Given the description of an element on the screen output the (x, y) to click on. 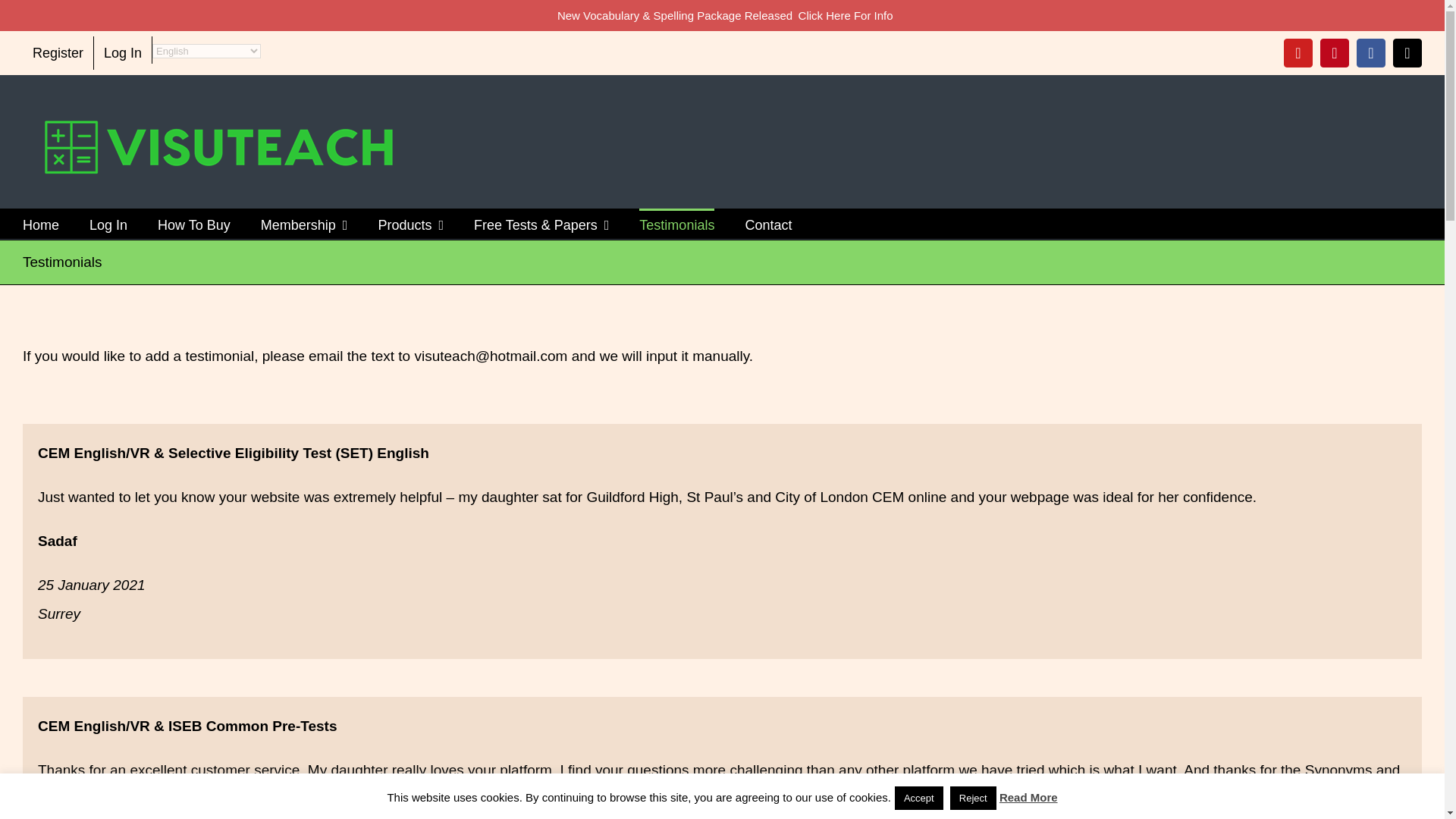
Testimonials (676, 223)
X (1407, 52)
Membership (303, 223)
Home (41, 223)
Facebook (1371, 52)
Contact (768, 223)
Log In (122, 52)
YouTube (1298, 52)
Register (58, 52)
Products (410, 223)
How To Buy (193, 223)
Log In (108, 223)
Pinterest (1334, 52)
